Given the description of an element on the screen output the (x, y) to click on. 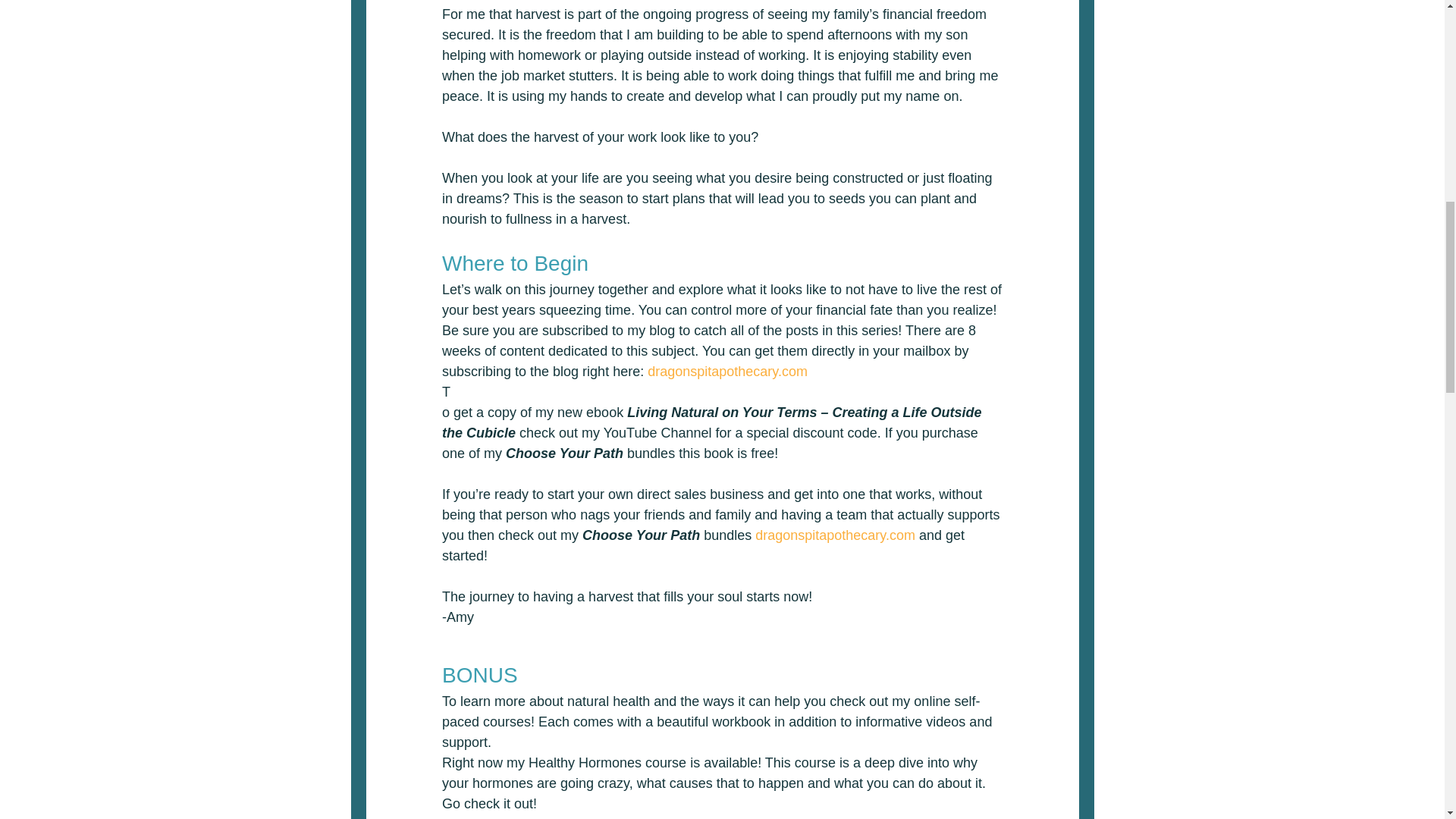
dragonspitapothecary.com (835, 534)
dragonspitapothecary.com (521, 817)
dragonspitapothecary.com (727, 371)
